Given the description of an element on the screen output the (x, y) to click on. 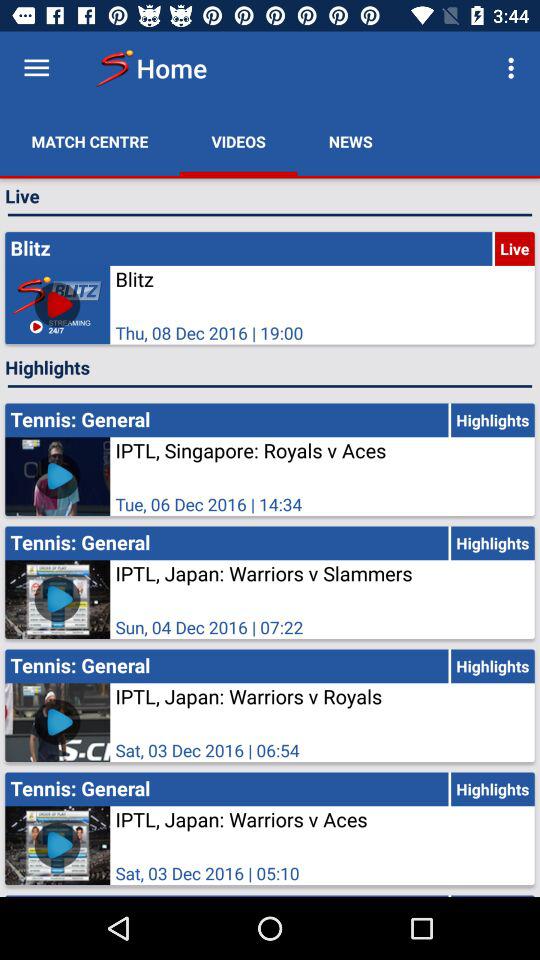
click videos app (238, 141)
